Given the description of an element on the screen output the (x, y) to click on. 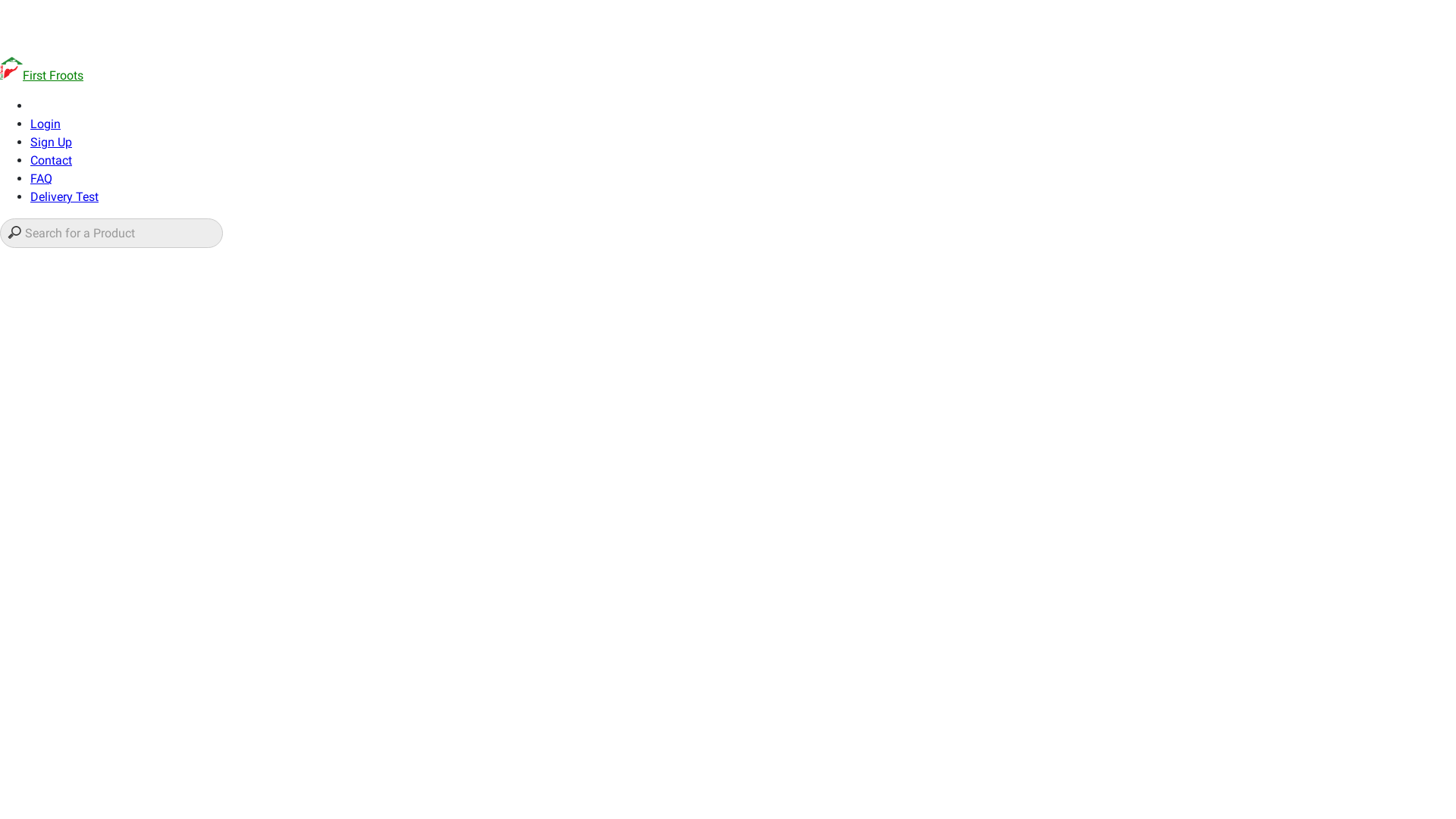
Delivery Test Element type: text (64, 196)
Sign Up Element type: text (51, 141)
FAQ Element type: text (41, 178)
Login Element type: text (45, 123)
First Froots Element type: text (41, 75)
Contact Element type: text (51, 160)
